Given the description of an element on the screen output the (x, y) to click on. 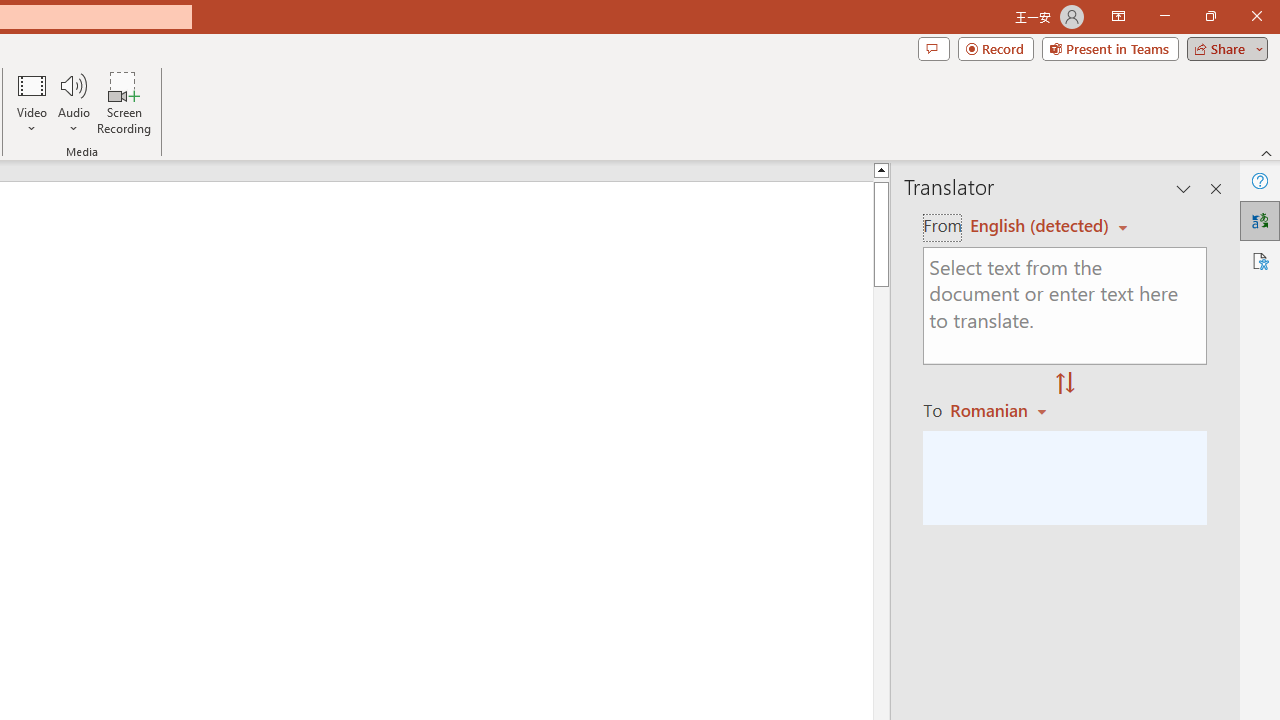
Screen Recording... (123, 102)
